Given the description of an element on the screen output the (x, y) to click on. 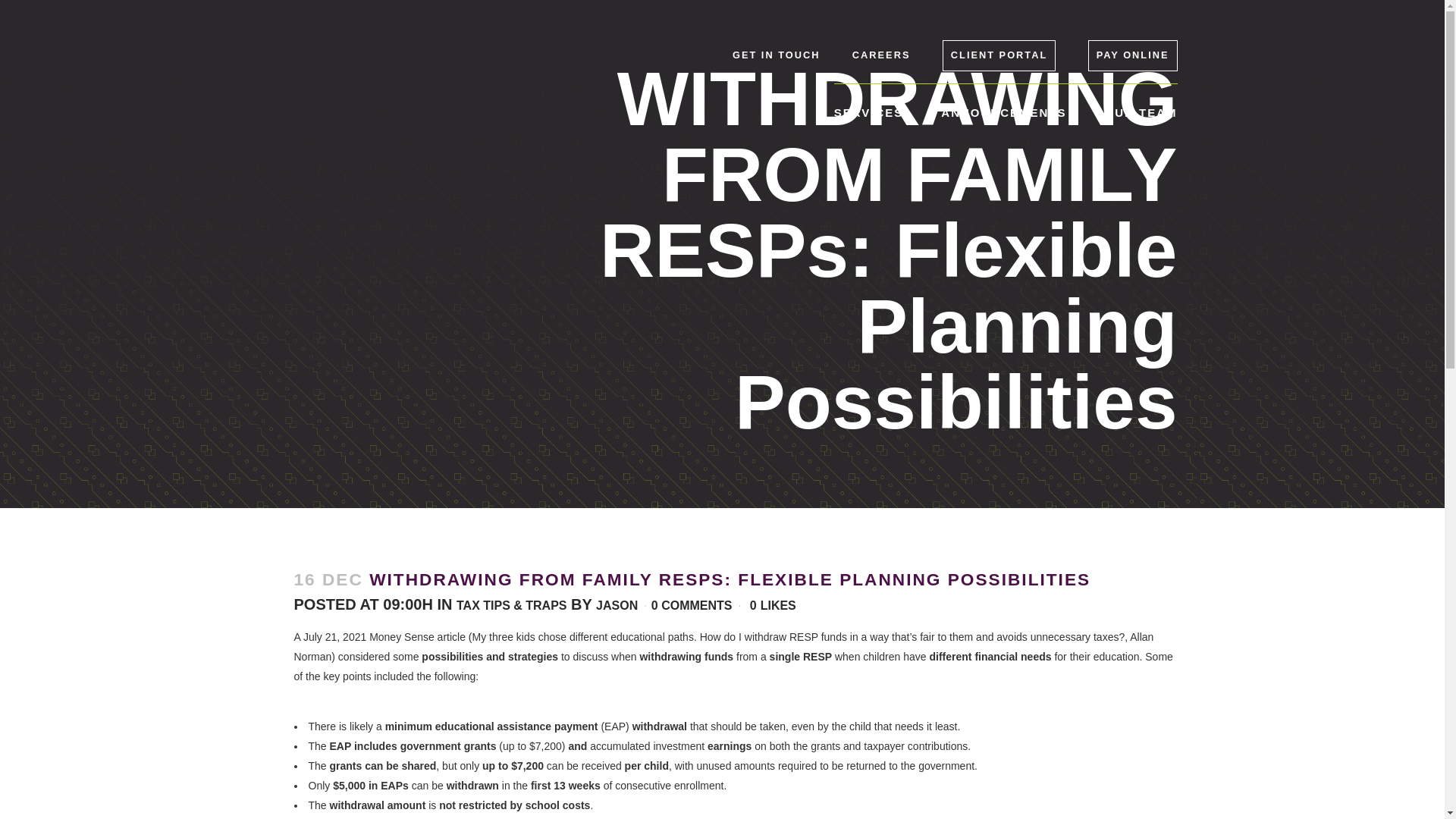
0 LIKES (772, 605)
Like this (772, 605)
CAREERS (881, 55)
GET IN TOUCH (775, 55)
PAY ONLINE (1132, 55)
JASON (616, 604)
CLIENT PORTAL (998, 55)
ANNOUNCEMENTS (1002, 112)
0 COMMENTS (691, 604)
SERVICES (869, 112)
